Given the description of an element on the screen output the (x, y) to click on. 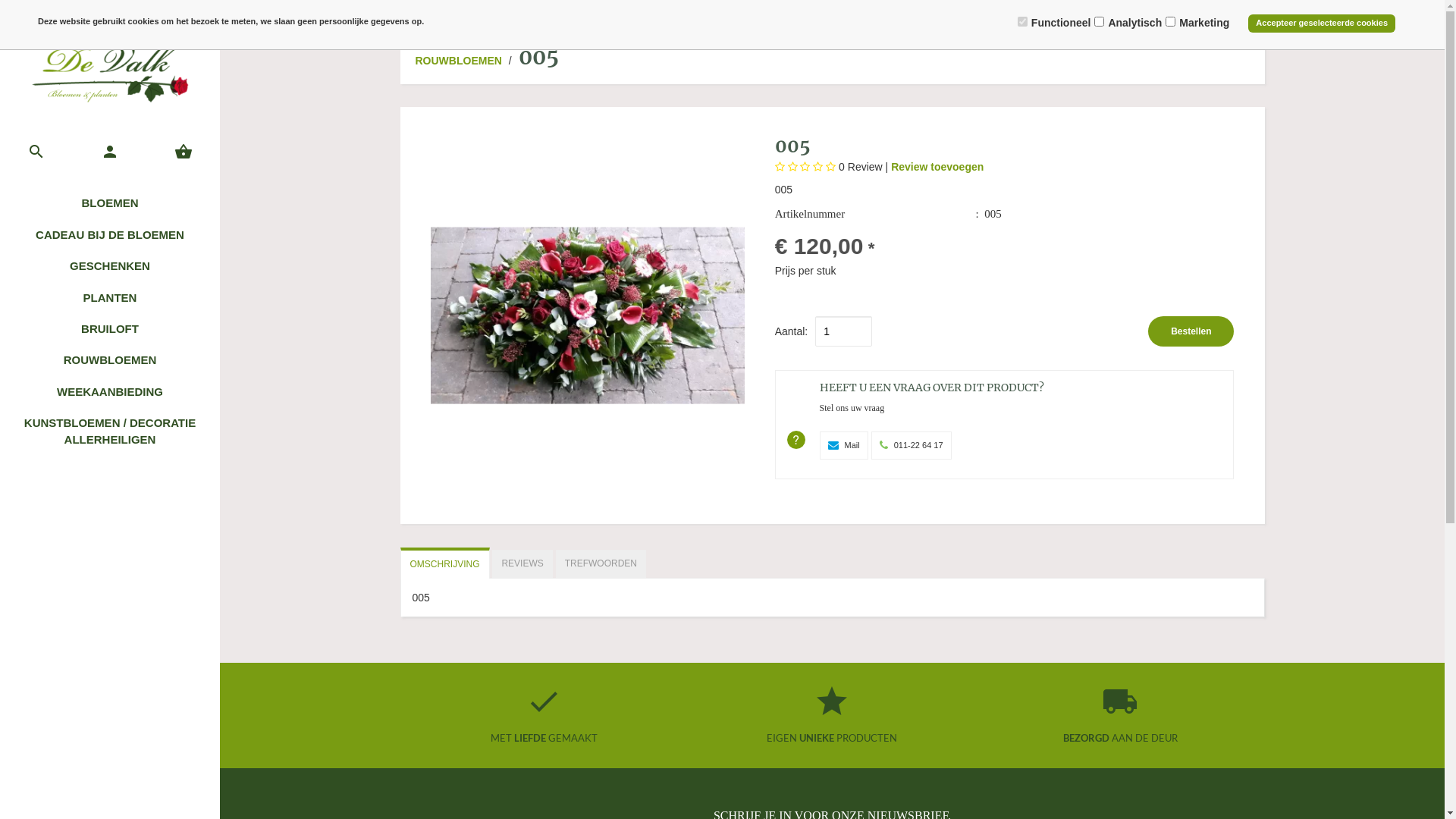
KUNSTBLOEMEN / DECORATIE ALLERHEILIGEN Element type: text (109, 431)
Mail Element type: text (843, 444)
CADEAU BIJ DE BLOEMEN Element type: text (109, 234)
TREFWOORDEN Element type: text (600, 563)
ROUWBLOEMEN Element type: text (109, 359)
LOGIN Element type: text (1389, 13)
BLOEMEN Element type: text (109, 202)
OMSCHRIJVING Element type: text (444, 562)
ROUWBLOEMEN Element type: text (460, 60)
GESCHENKEN Element type: text (109, 265)
Review toevoegen Element type: text (937, 166)
CONTACT Element type: text (288, 13)
WEEKAANBIEDING Element type: text (109, 391)
ALGEMENE VOORWAARDEN Element type: text (454, 13)
OVER ONS Element type: text (228, 13)
STARTPAGINA Element type: text (48, 13)
011-22 64 17 Element type: text (911, 444)
PLANTEN Element type: text (109, 297)
BEZORGKOSTEN Element type: text (565, 13)
REVIEWS Element type: text (522, 563)
BLOEMEN BESTELLEN Element type: text (141, 13)
FOTOALBUM Element type: text (352, 13)
BRUILOFT Element type: text (109, 328)
